Given the description of an element on the screen output the (x, y) to click on. 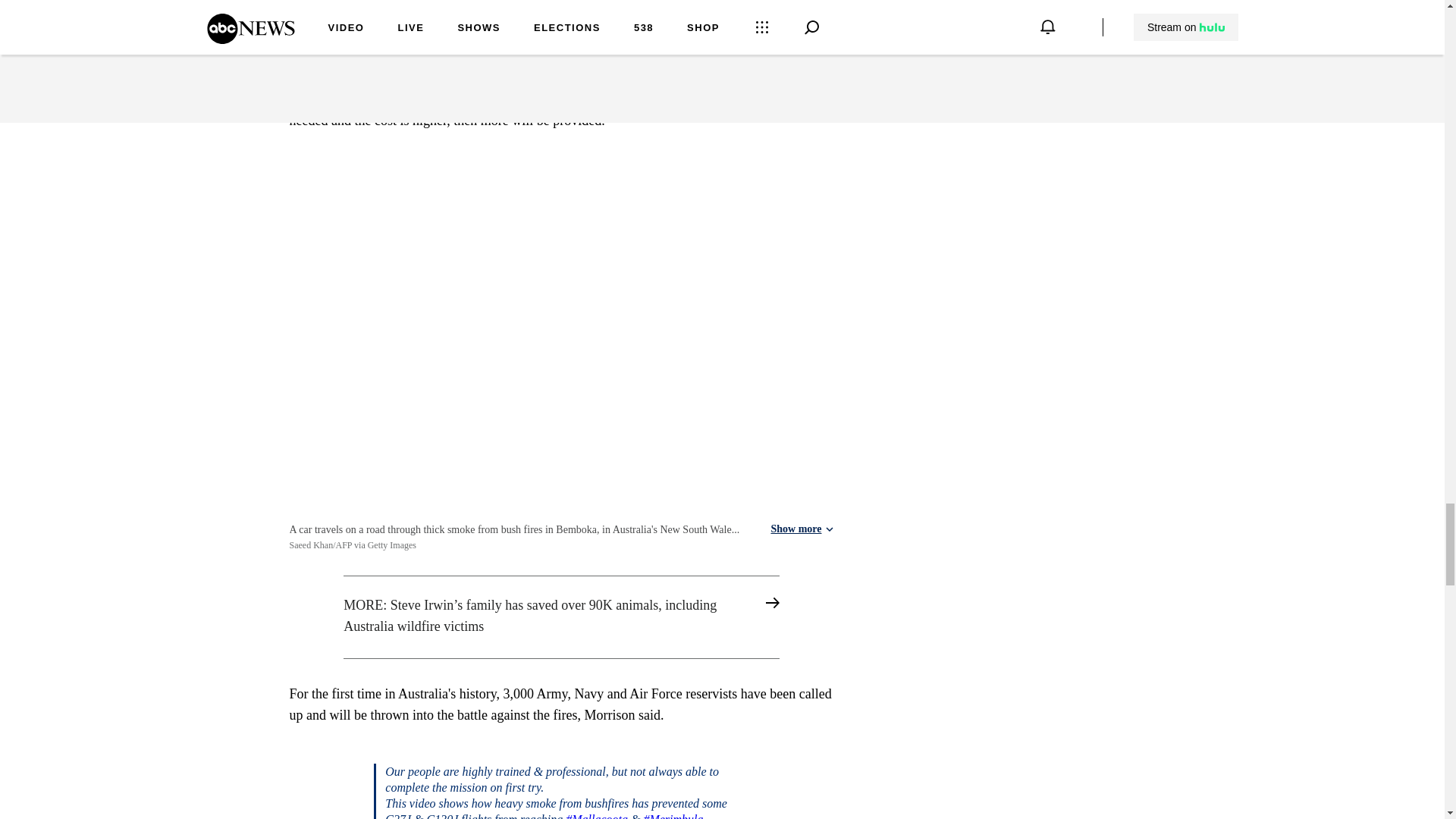
Show more (801, 529)
